Given the description of an element on the screen output the (x, y) to click on. 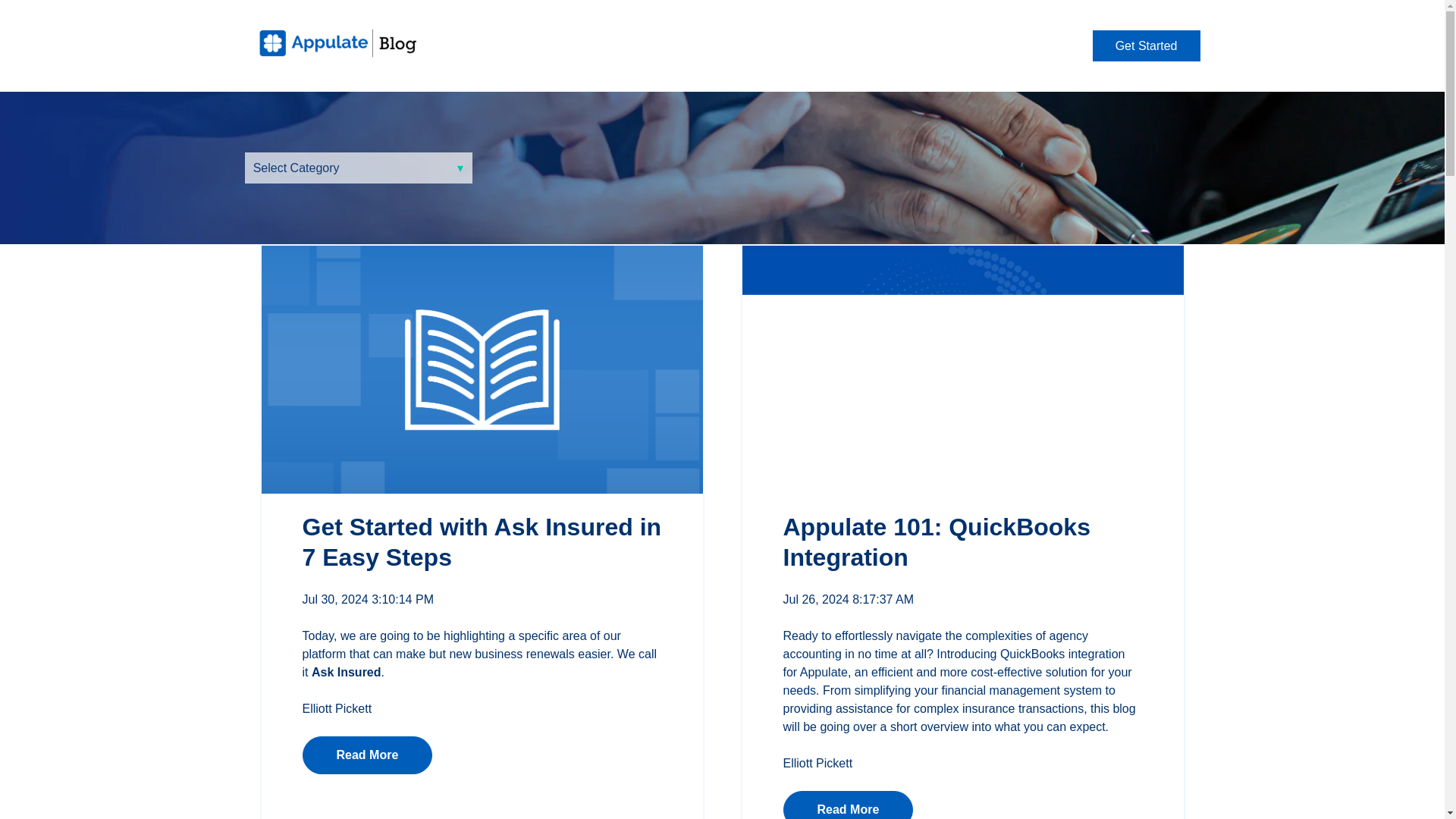
Get Started (1146, 45)
Appulate 101: QuickBooks Integration (936, 541)
Get Started with Ask Insured in 7 Easy Steps (481, 541)
Elliott Pickett (336, 707)
Elliott Pickett (817, 762)
Appulate Logo (338, 42)
Read More (366, 754)
Read More (847, 805)
